Given the description of an element on the screen output the (x, y) to click on. 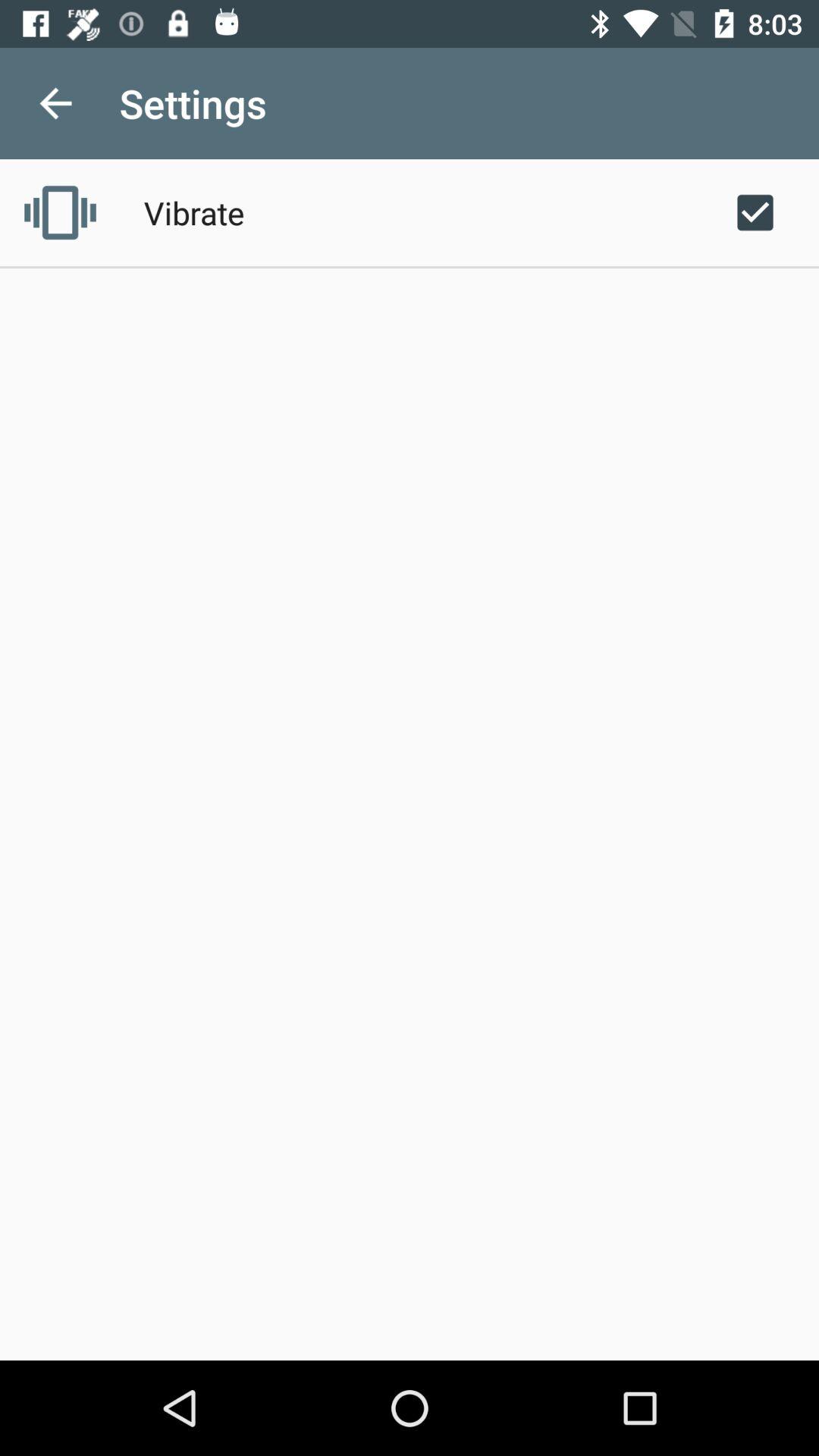
this button in backspace (55, 103)
